Given the description of an element on the screen output the (x, y) to click on. 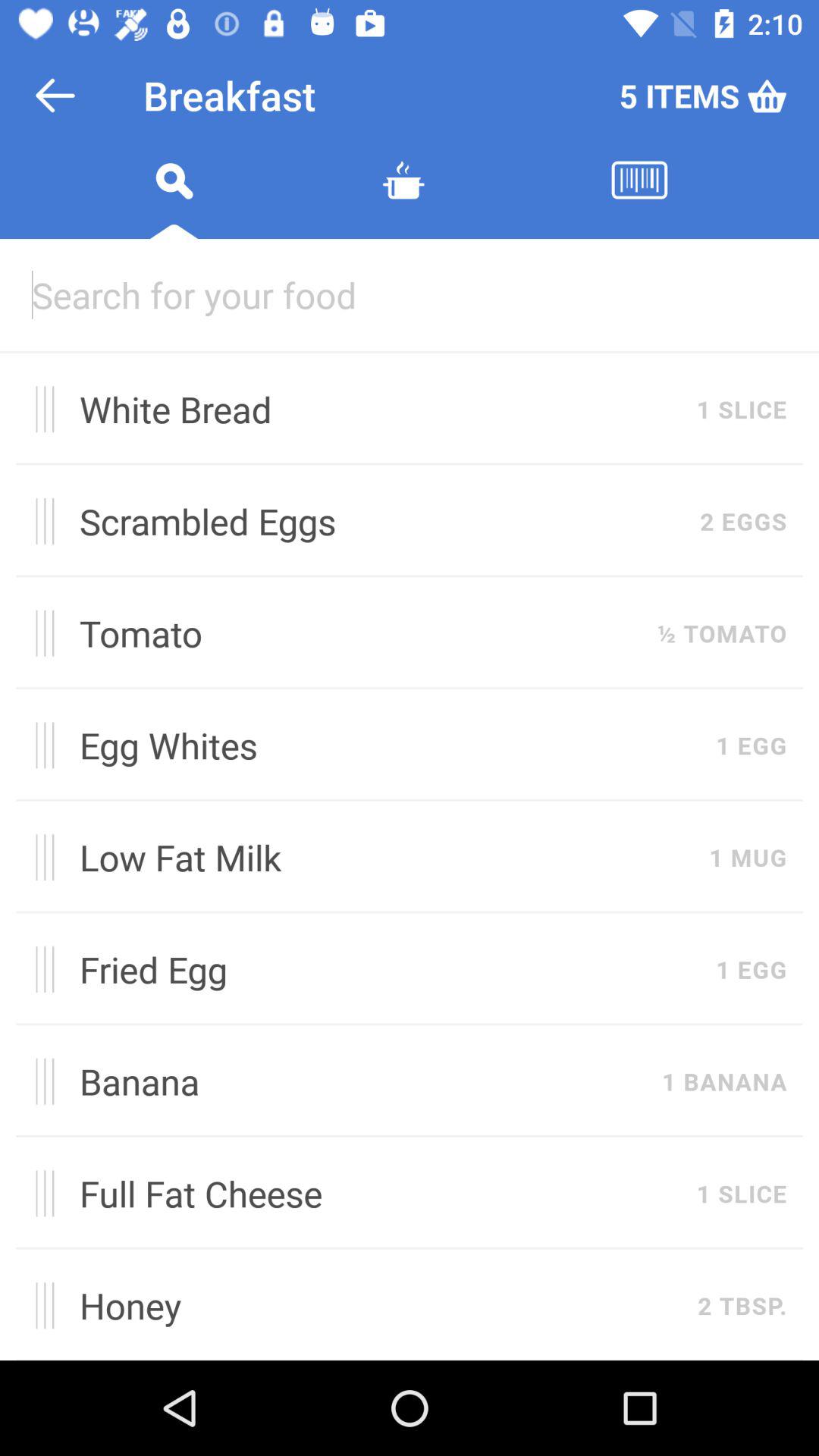
launch the item to the right of the honey icon (742, 1305)
